Given the description of an element on the screen output the (x, y) to click on. 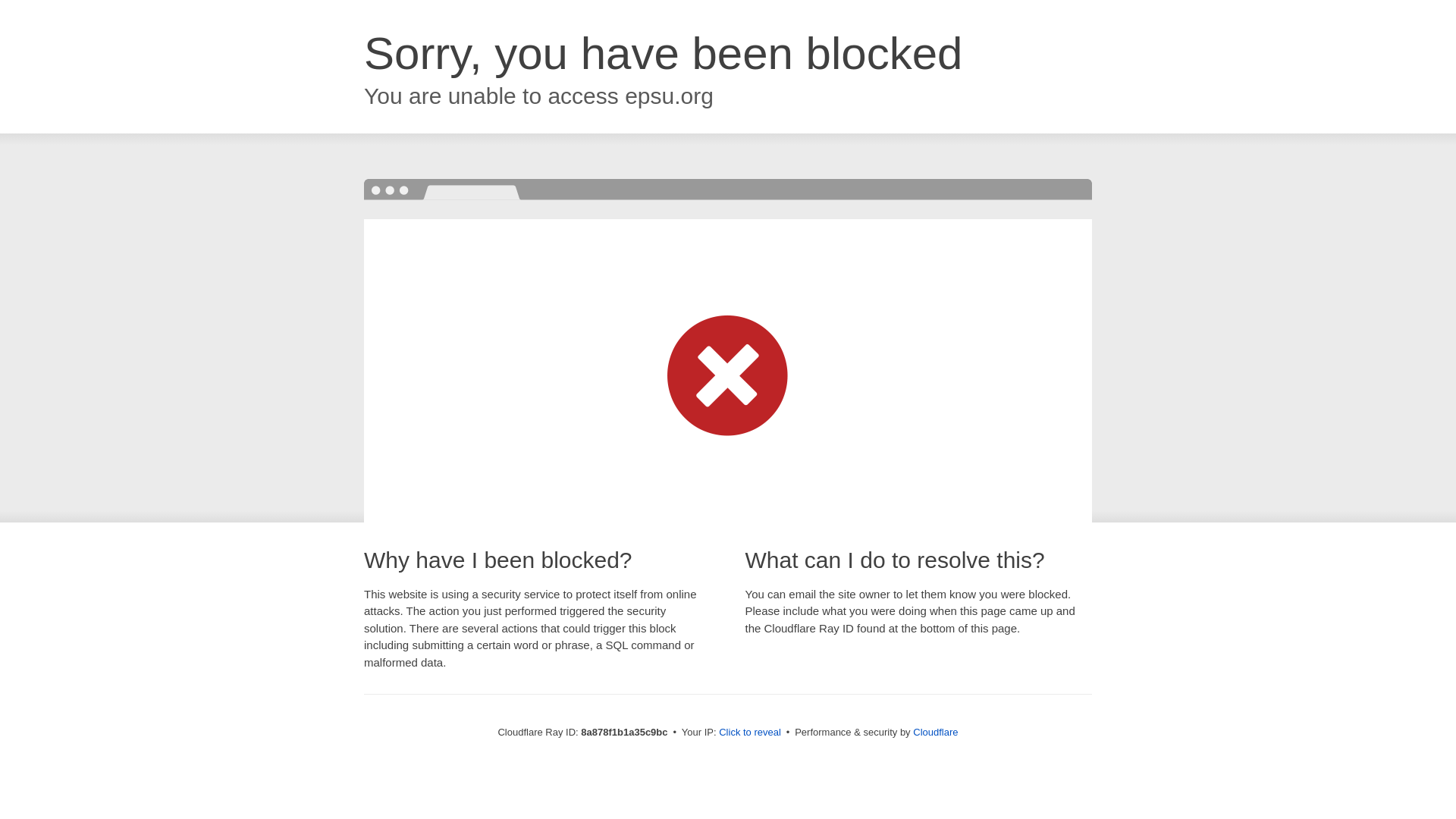
Click to reveal (749, 732)
Cloudflare (935, 731)
